Given the description of an element on the screen output the (x, y) to click on. 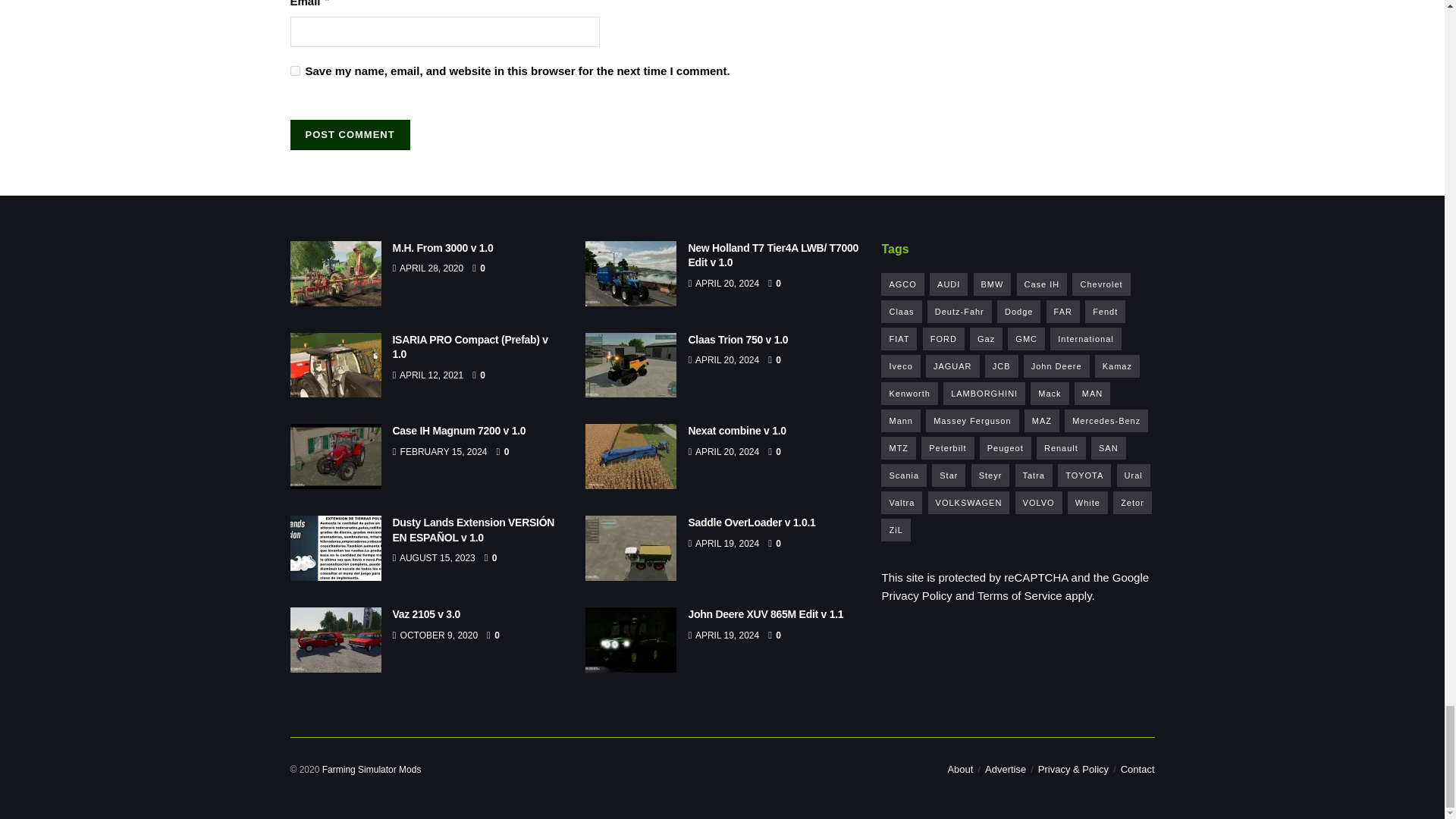
Download the Vaz 2105 v 3.0 Mod for Farming Simulator (334, 639)
Download the M.H. From 3000 v 1.0 Mod for Farming Simulator (334, 273)
Post Comment (349, 134)
yes (294, 71)
Download the Claas Trion 750 v 1.0 Mod for Farming Simulator (631, 365)
Download the Nexat combine v 1.0 Mod for Farming Simulator (631, 456)
